Given the description of an element on the screen output the (x, y) to click on. 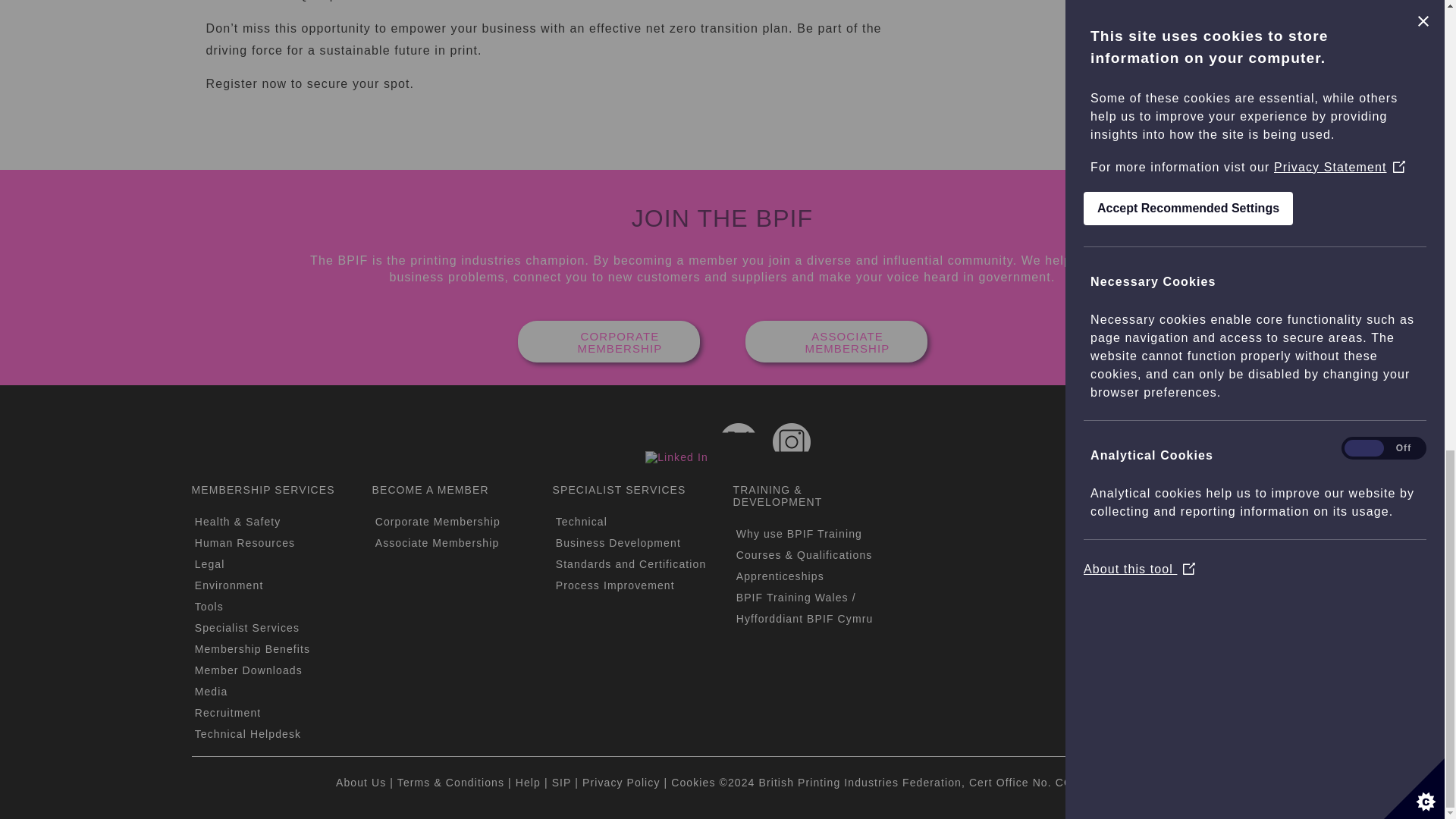
Business Development (618, 542)
Membership Benefits (252, 648)
Technical Helpdesk (248, 734)
Corporate Membership (437, 521)
Tools (209, 606)
Twitter (738, 442)
Environment (229, 585)
Member Downloads (248, 670)
Technical (581, 521)
Specialist Services (247, 627)
Legal (210, 563)
Linked In (676, 457)
Recruitment (228, 712)
Human Resources (245, 542)
Standards and Certification (631, 563)
